Given the description of an element on the screen output the (x, y) to click on. 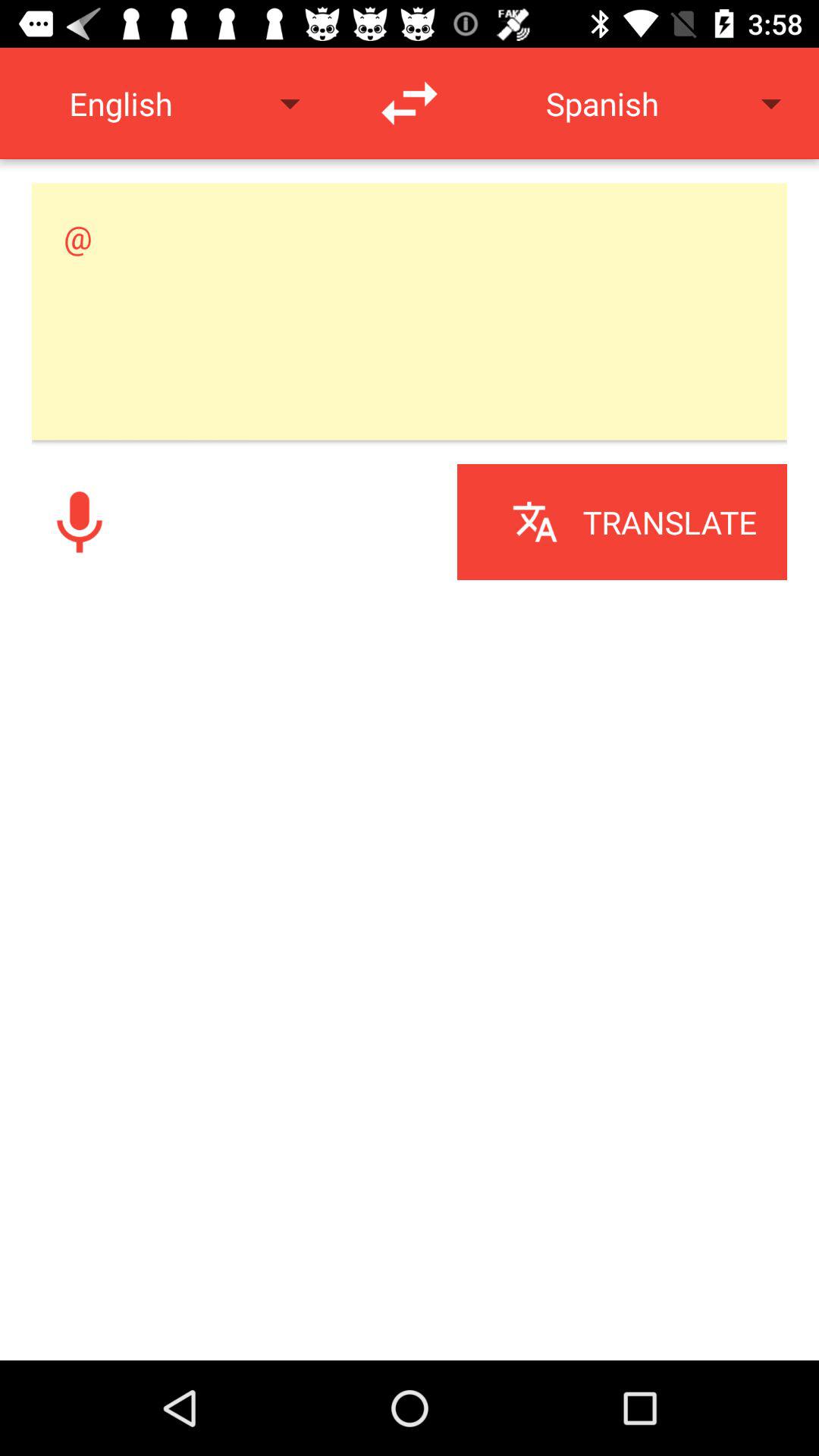
interchange two languages option (409, 103)
